Given the description of an element on the screen output the (x, y) to click on. 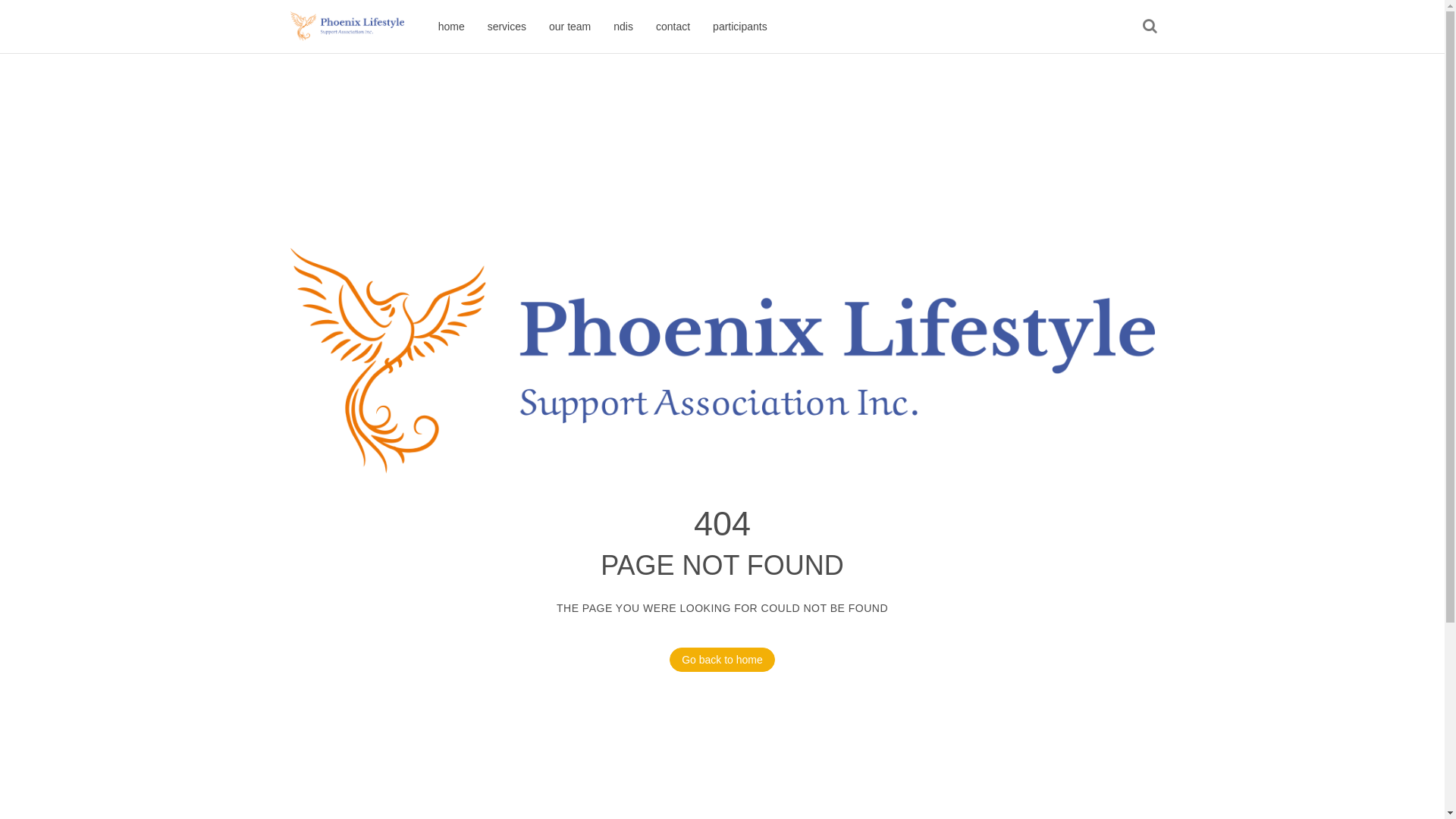
ndis Element type: text (623, 26)
Go back to home Element type: text (722, 659)
home Element type: text (451, 26)
participants Element type: text (739, 26)
contact Element type: text (672, 26)
services Element type: text (506, 26)
GO Element type: text (1148, 25)
our team Element type: text (569, 26)
